Given the description of an element on the screen output the (x, y) to click on. 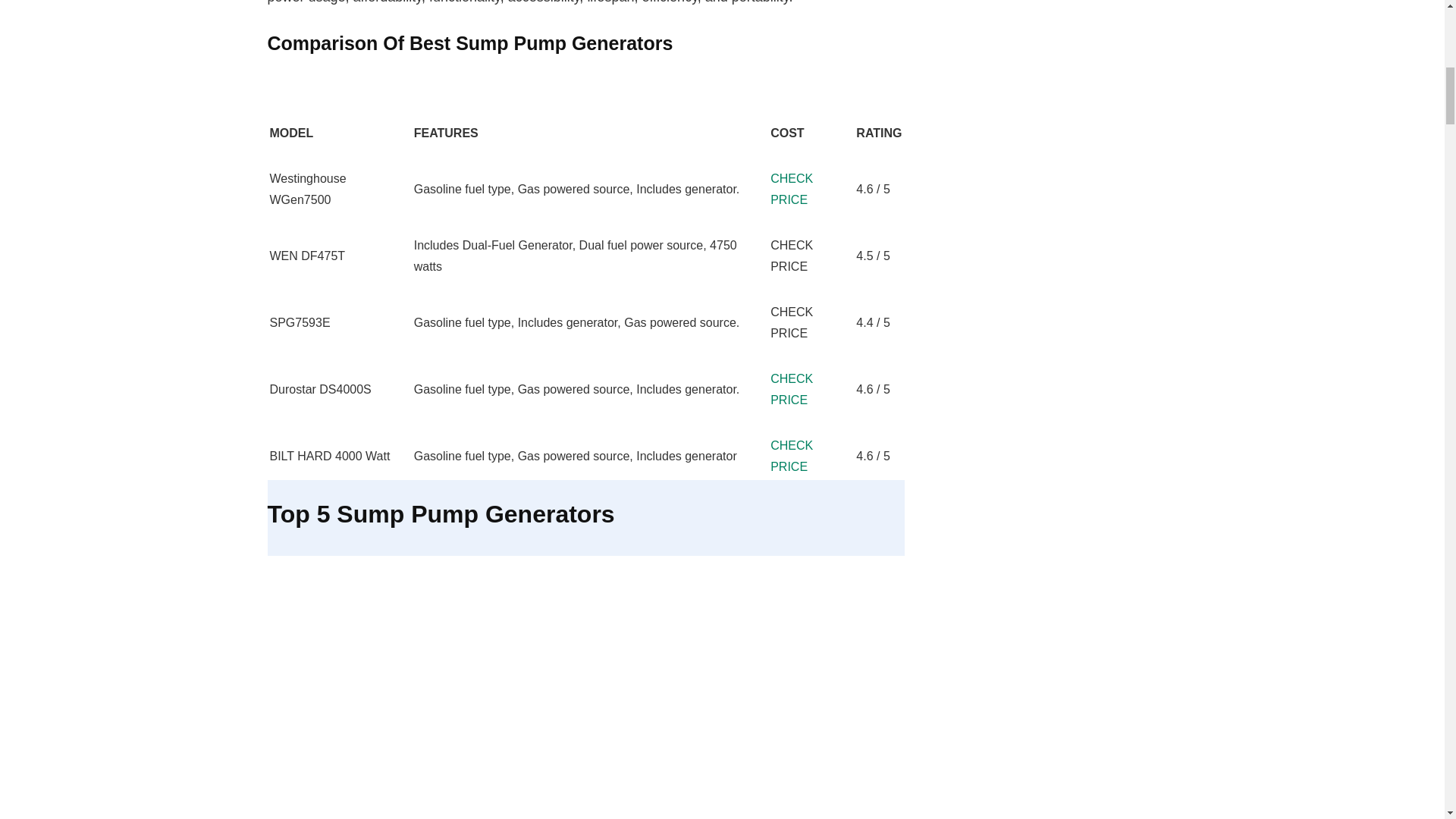
CHECK PRICE (791, 455)
CHECK PRICE (791, 389)
CHECK PRICE (791, 188)
